Given the description of an element on the screen output the (x, y) to click on. 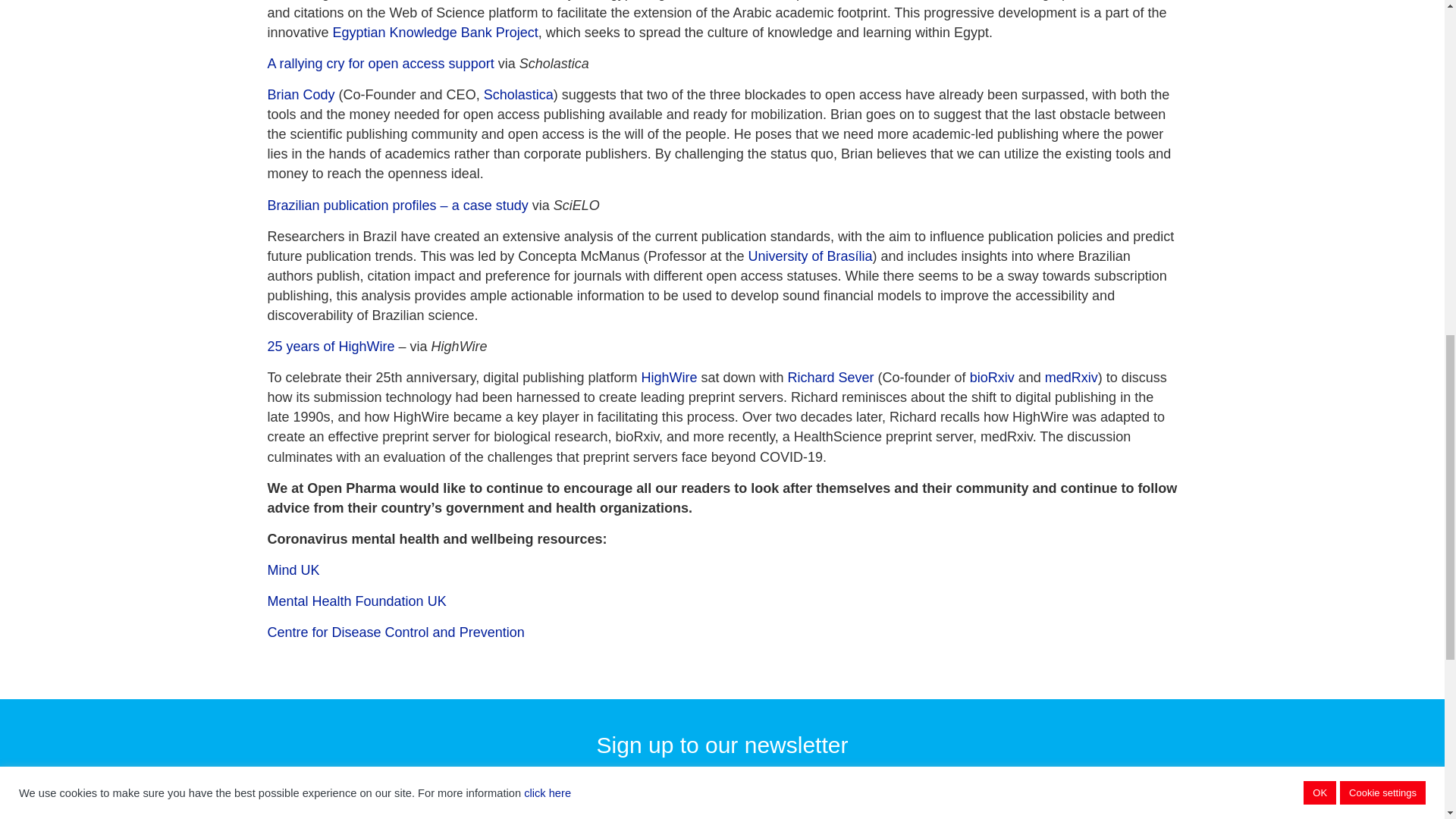
Brian Cody (300, 94)
Scholastica (518, 94)
Richard Sever (831, 377)
Submit (1123, 813)
25 years of HighWire (330, 346)
medRxiv (1071, 377)
A rallying cry for open access support (379, 63)
Mind UK (292, 570)
Centre for Disease Control and Prevention (395, 631)
Mental Health Foundation UK (355, 601)
bioRxiv (991, 377)
HighWire (668, 377)
Egyptian Knowledge Bank Project (435, 32)
